Given the description of an element on the screen output the (x, y) to click on. 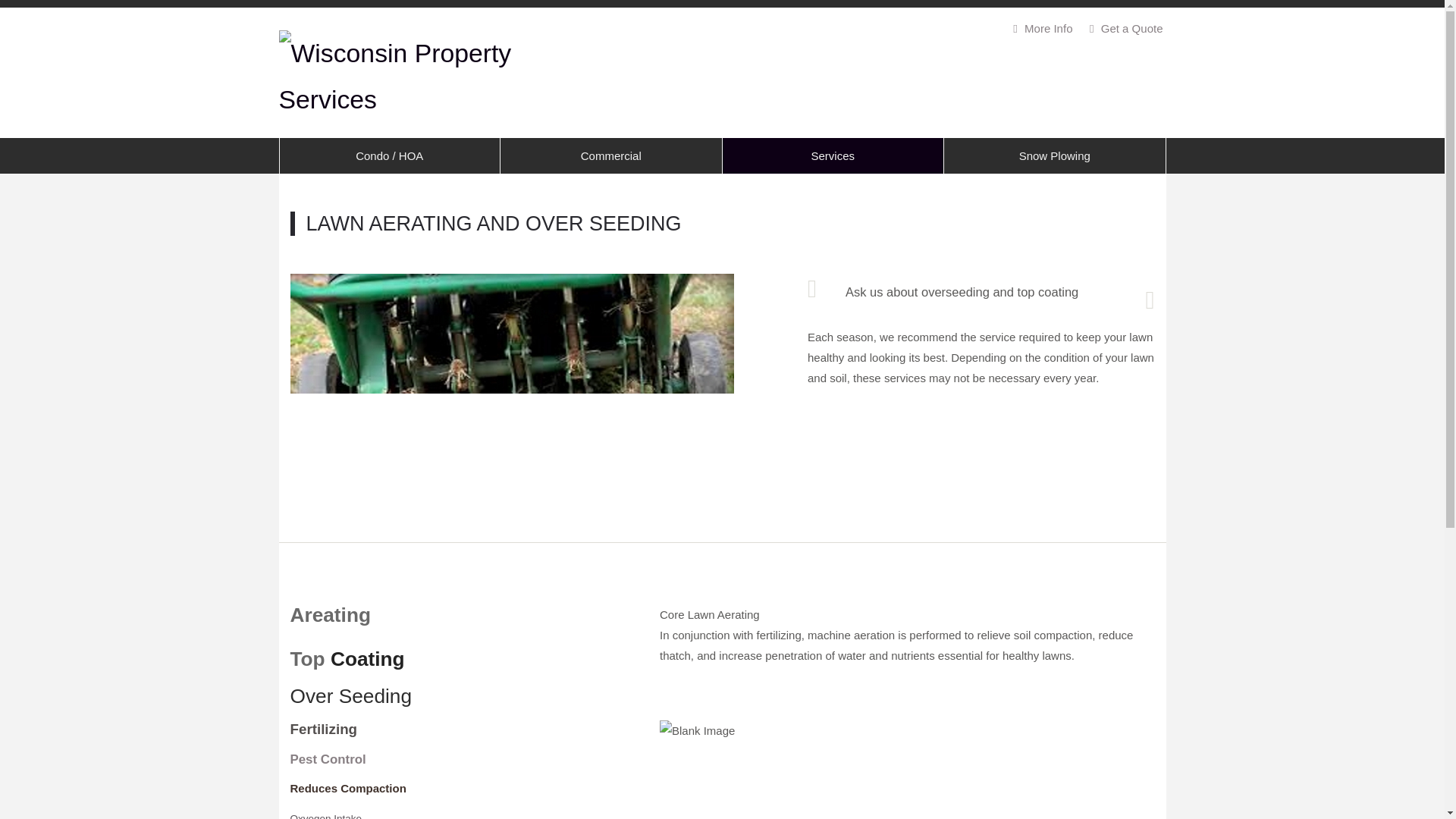
Get a Quote (1124, 28)
Services (832, 155)
More Info (1041, 28)
Commercial (611, 155)
Snow Plowing (1054, 155)
